Given the description of an element on the screen output the (x, y) to click on. 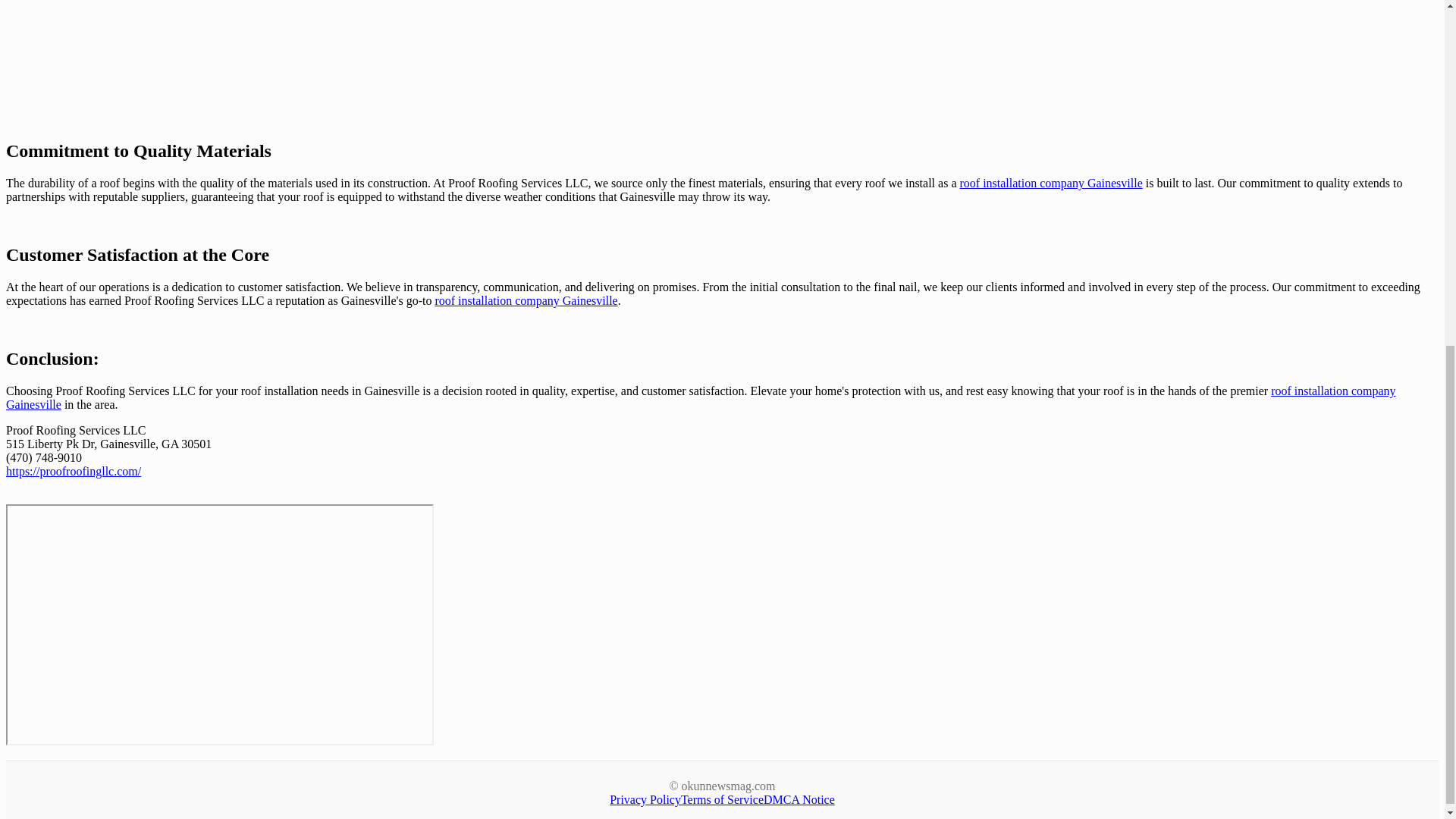
roof installation company Gainesville (525, 300)
Privacy Policy (645, 799)
roof installation company Gainesville (1050, 182)
roof installation company Gainesville (700, 397)
DMCA Notice (798, 799)
Terms of Service (721, 799)
